Given the description of an element on the screen output the (x, y) to click on. 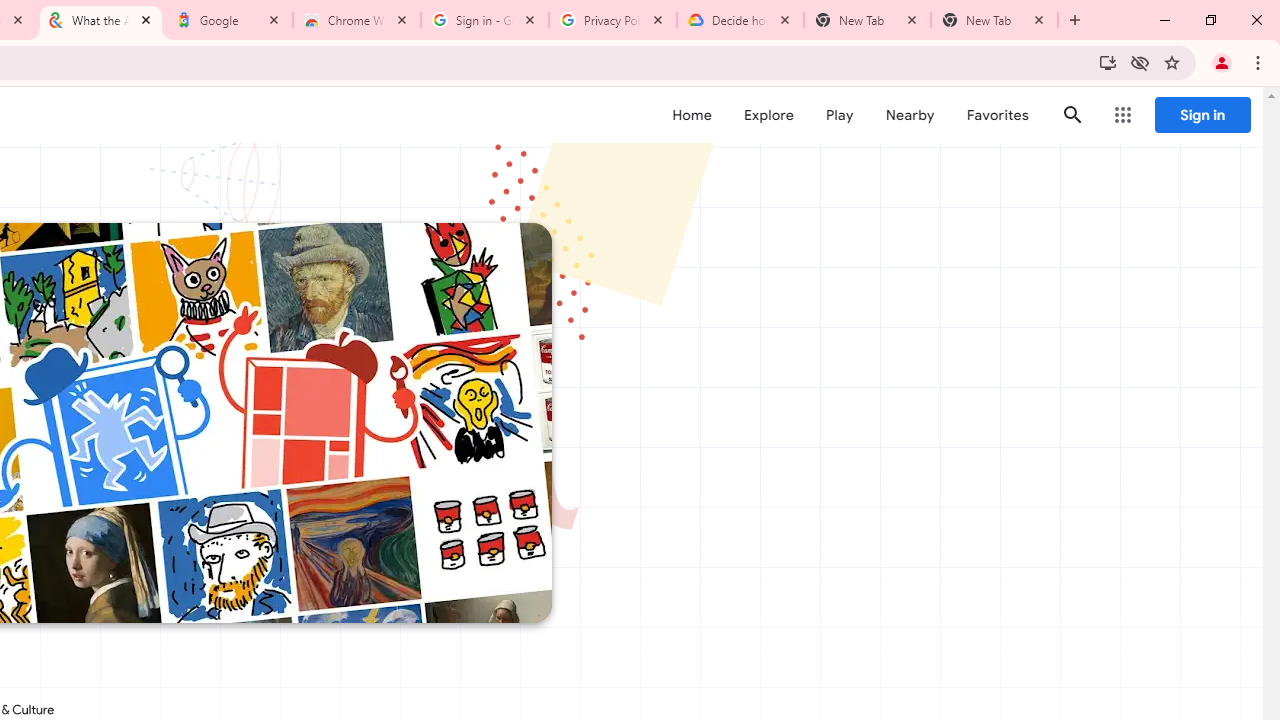
Google (229, 20)
Sign in - Google Accounts (485, 20)
